Given the description of an element on the screen output the (x, y) to click on. 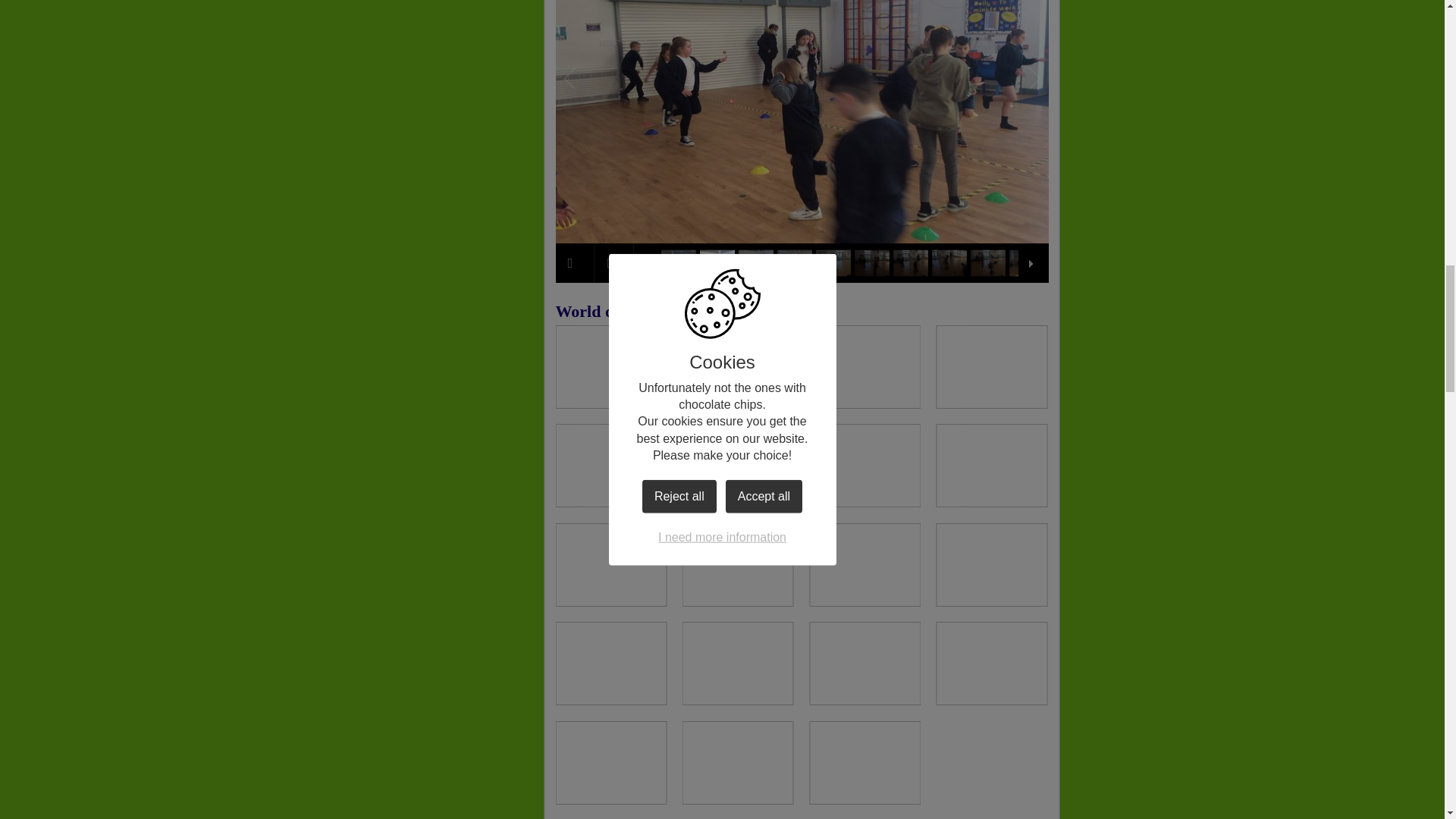
View large version of image (610, 366)
View large version of image (737, 564)
View large version of image (864, 465)
View large version of image (991, 564)
View large version of image (864, 366)
View large version of image (610, 564)
View large version of image (864, 564)
View large version of image (991, 465)
View large version of image (610, 465)
View large version of image (991, 366)
View large version of image (737, 366)
View large version of image (737, 465)
